Given the description of an element on the screen output the (x, y) to click on. 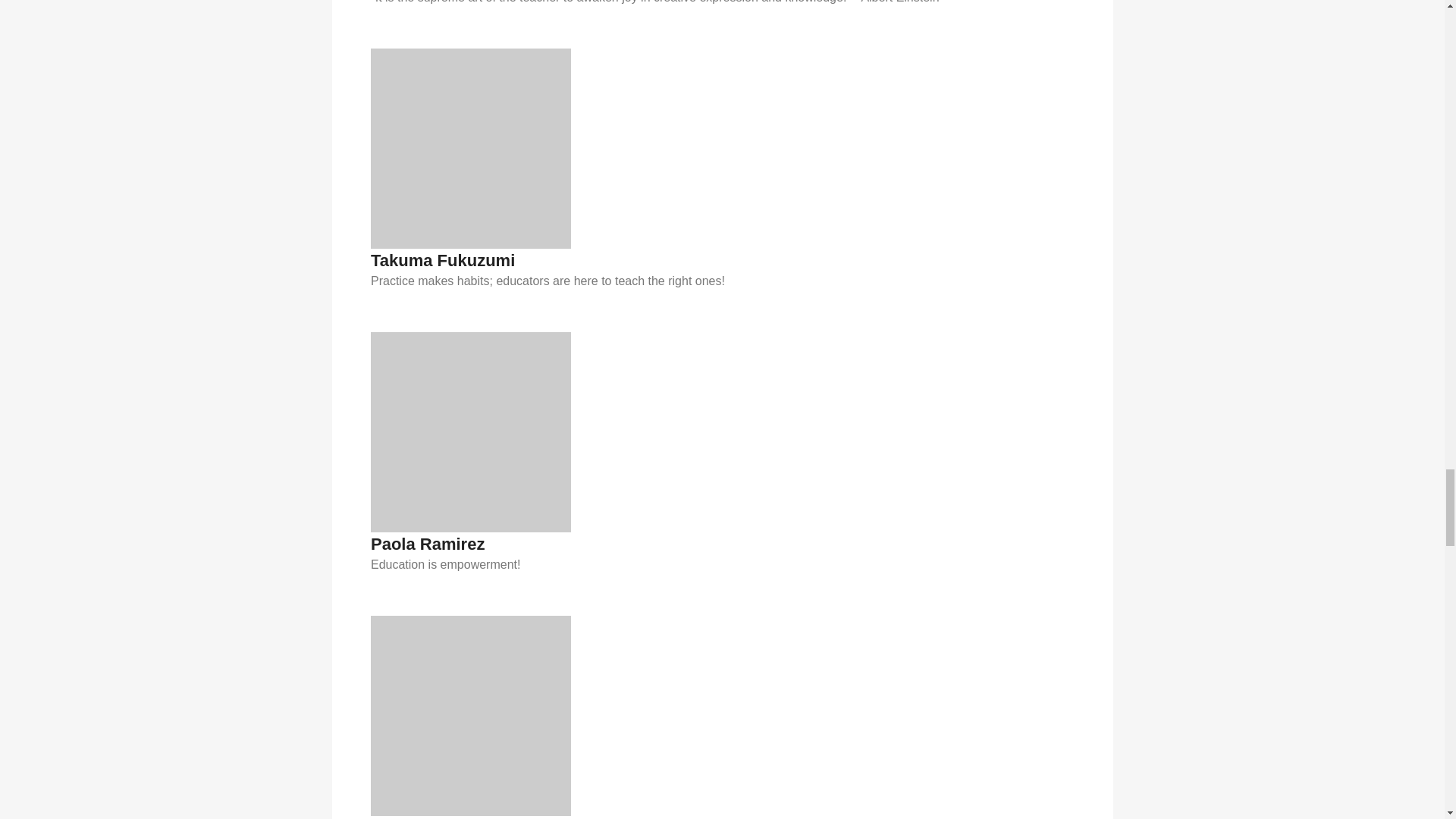
Education is empowerment! (722, 564)
